Given the description of an element on the screen output the (x, y) to click on. 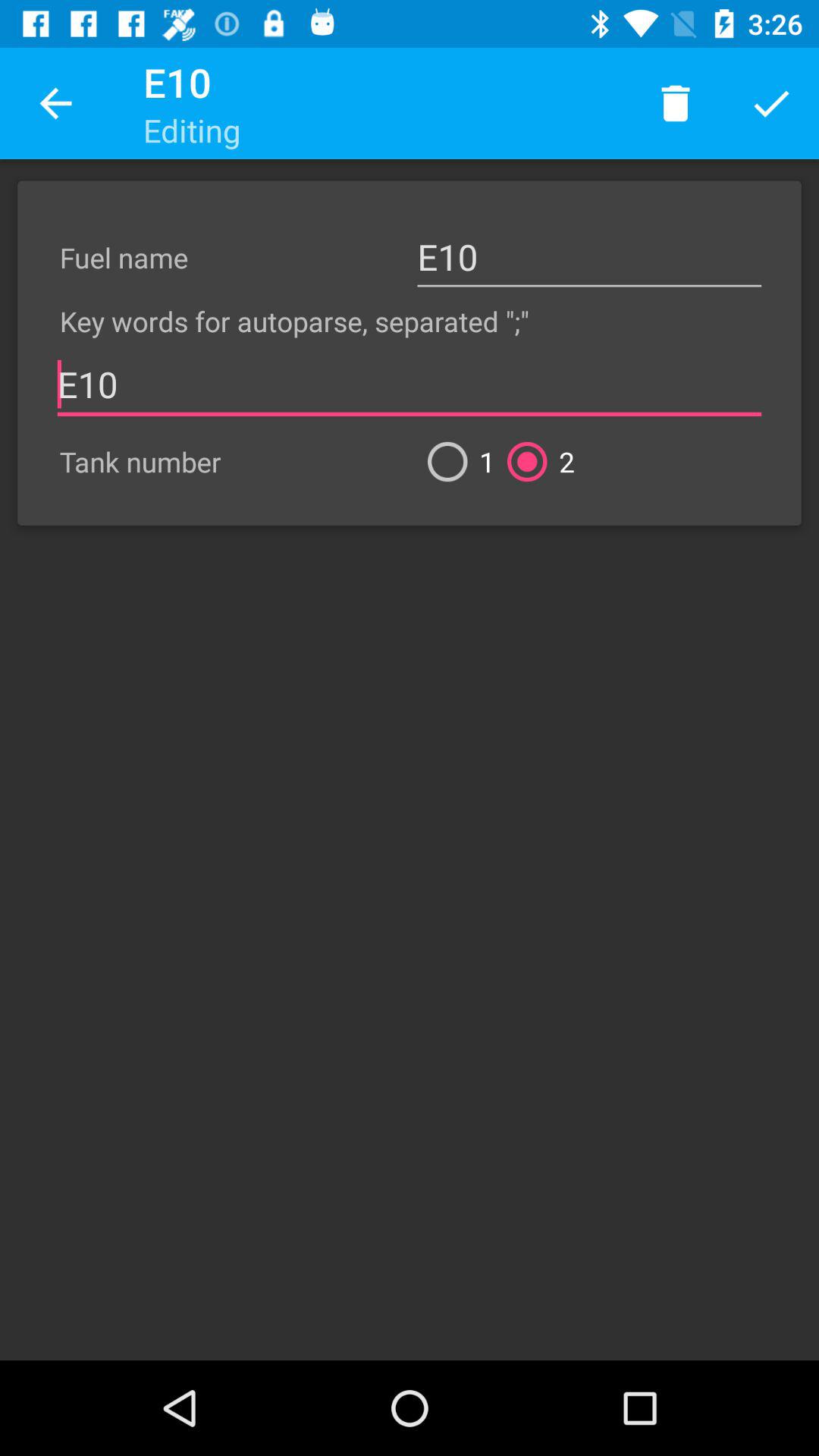
launch icon next to the 1 icon (535, 461)
